Given the description of an element on the screen output the (x, y) to click on. 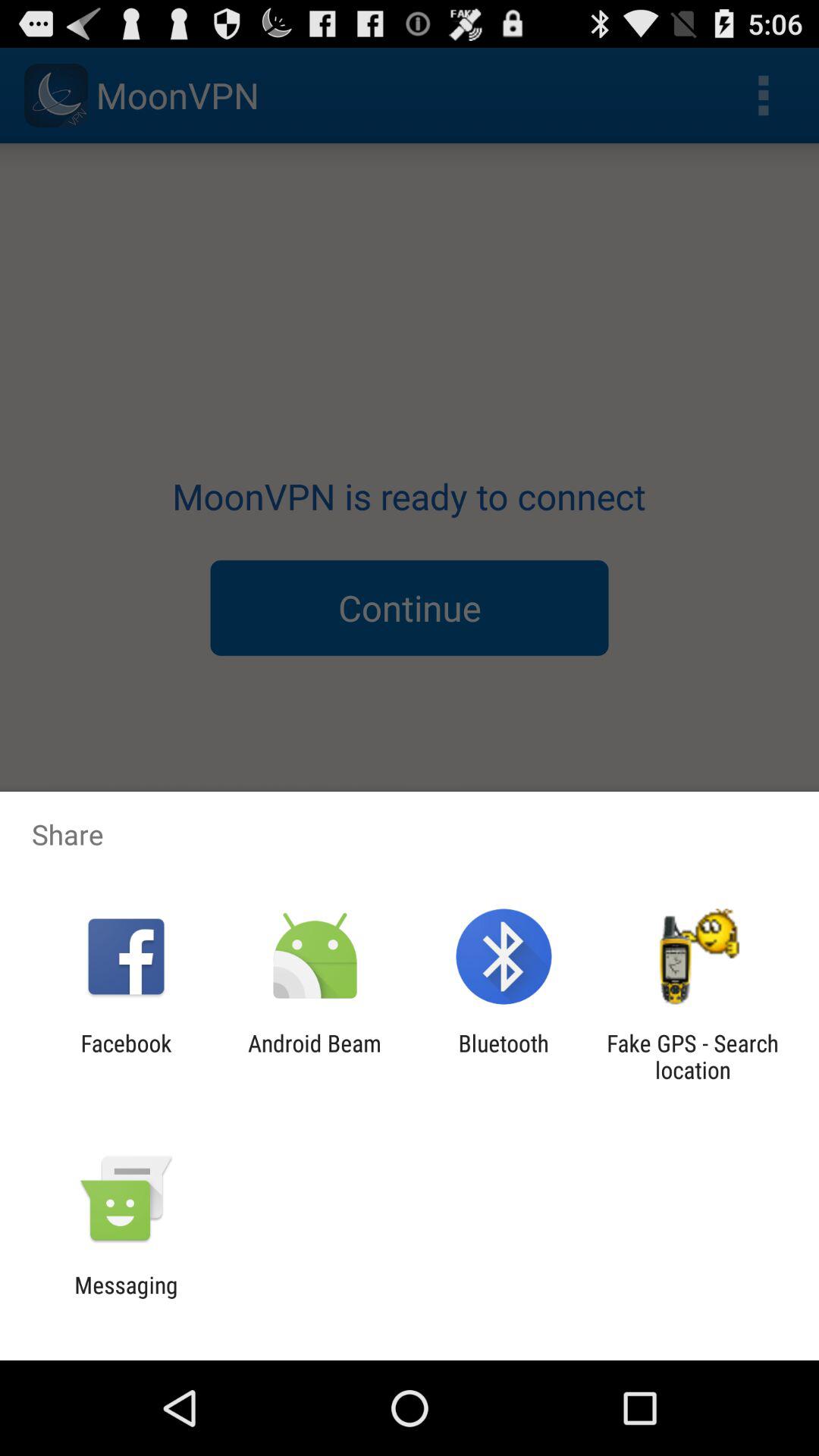
scroll until the facebook icon (125, 1056)
